Given the description of an element on the screen output the (x, y) to click on. 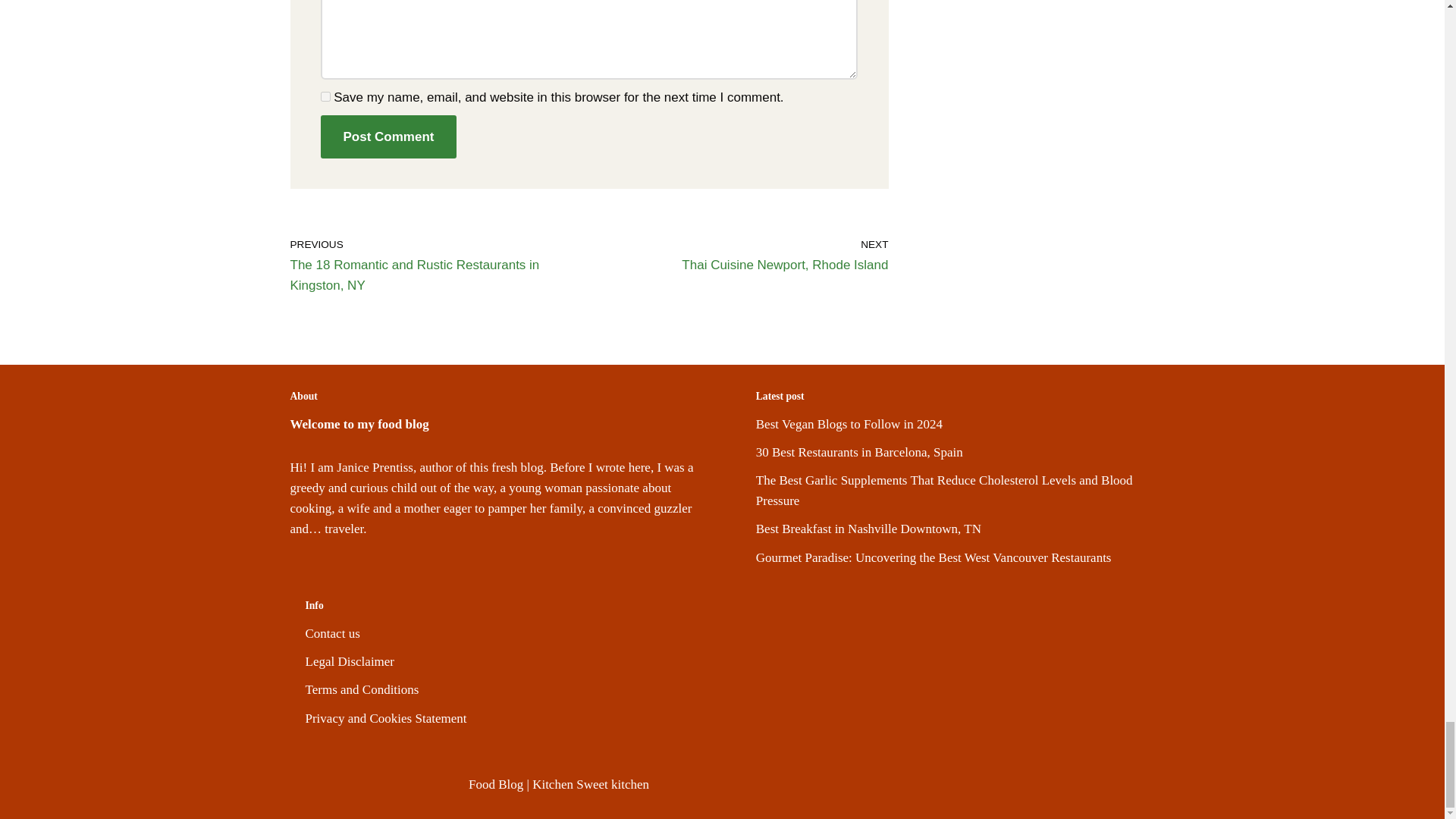
Post Comment (388, 136)
yes (325, 96)
